Given the description of an element on the screen output the (x, y) to click on. 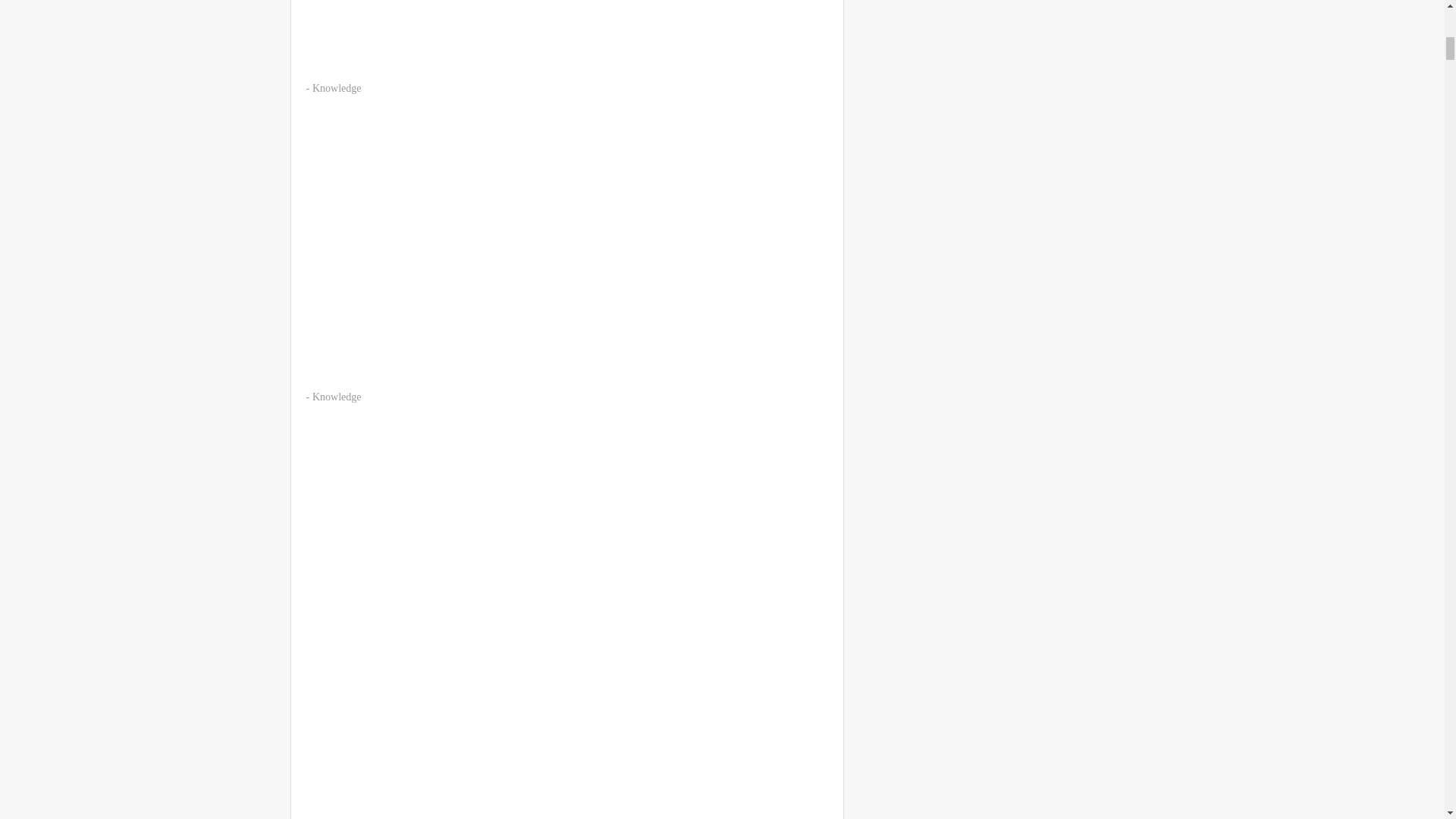
Knowledge (337, 396)
Knowledge (337, 88)
